Given the description of an element on the screen output the (x, y) to click on. 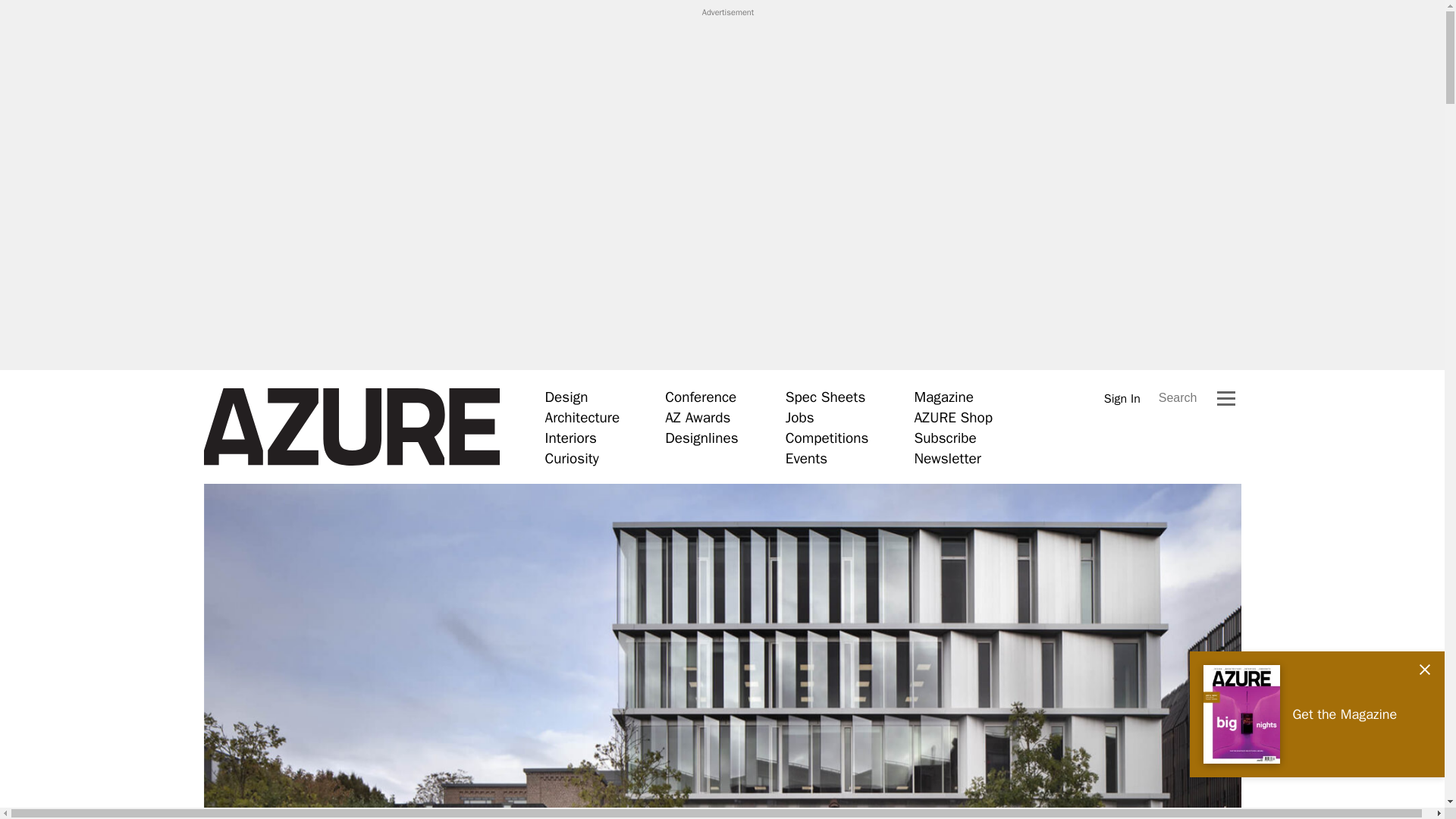
Spec Sheets (825, 397)
Curiosity (571, 458)
Azure Magazine (351, 426)
Jobs (799, 417)
Architecture (582, 417)
AZ Awards (697, 417)
Design (566, 397)
Competitions (827, 438)
Subscribe (944, 438)
Events (806, 458)
